Given the description of an element on the screen output the (x, y) to click on. 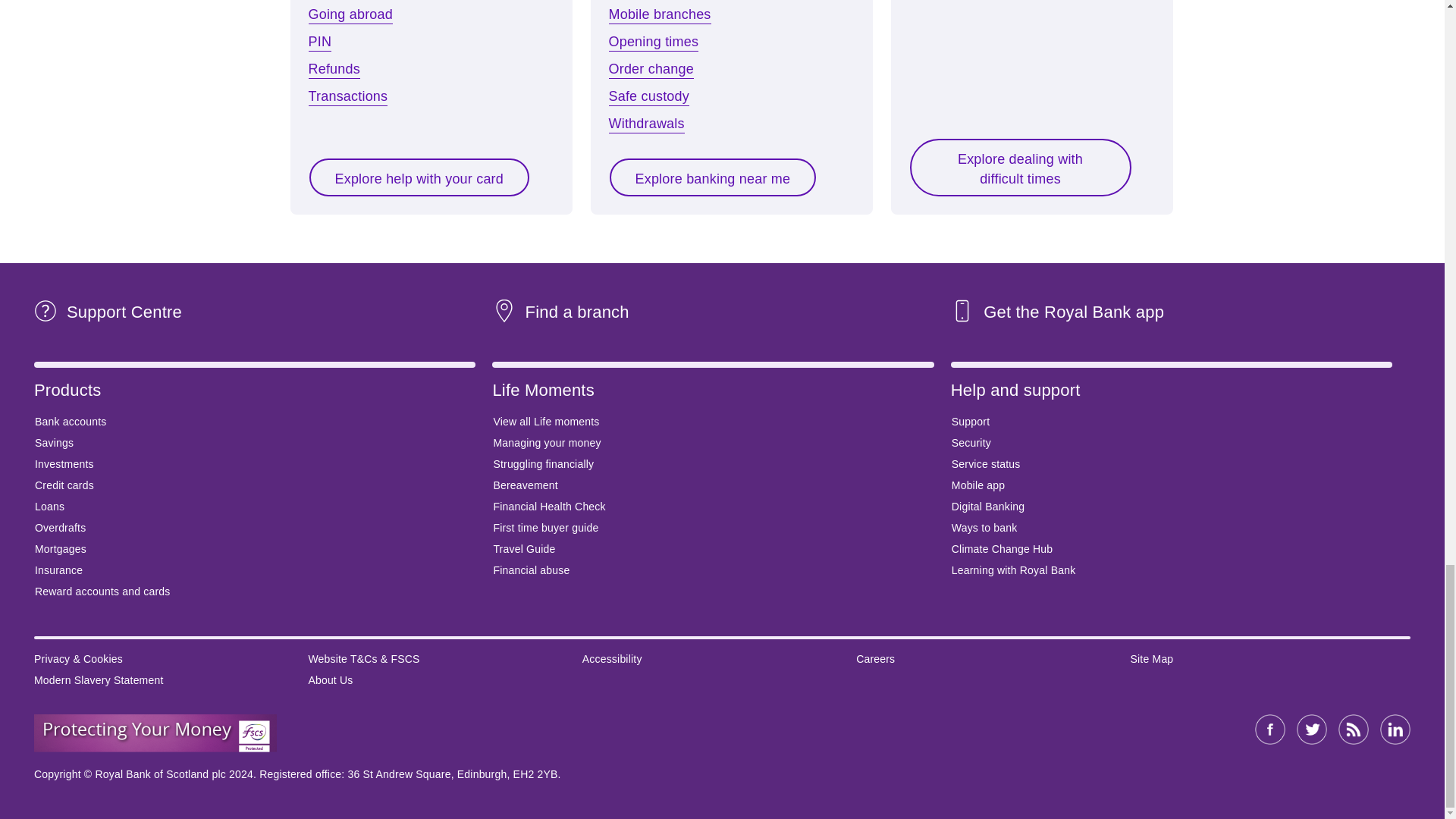
Explore help with your card (418, 176)
Explore dealing with difficult times (1019, 167)
fscs (154, 733)
Explore banking near me (712, 176)
